Given the description of an element on the screen output the (x, y) to click on. 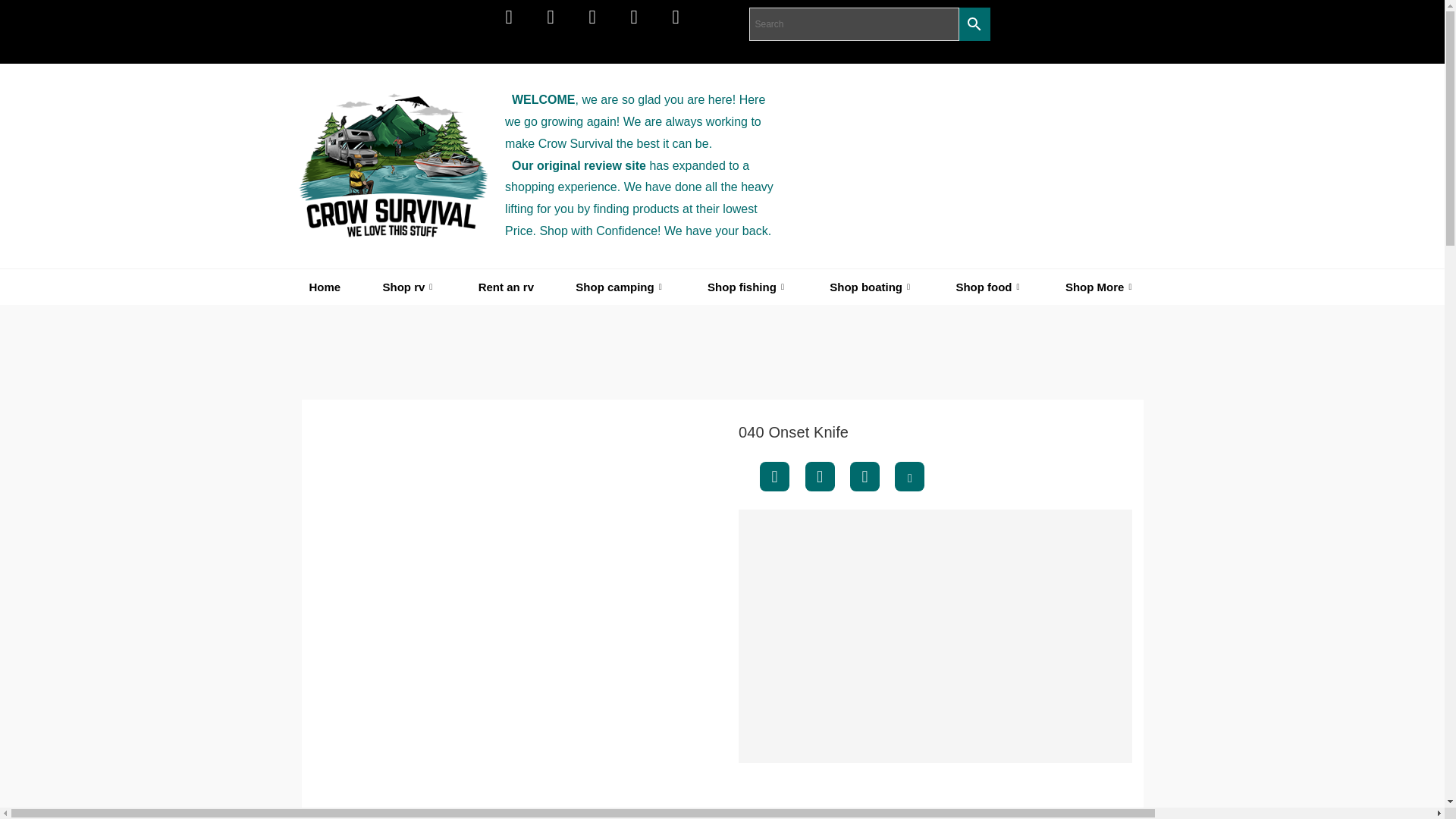
Share by Email (909, 476)
Home (324, 286)
Shop rv (409, 286)
